Given the description of an element on the screen output the (x, y) to click on. 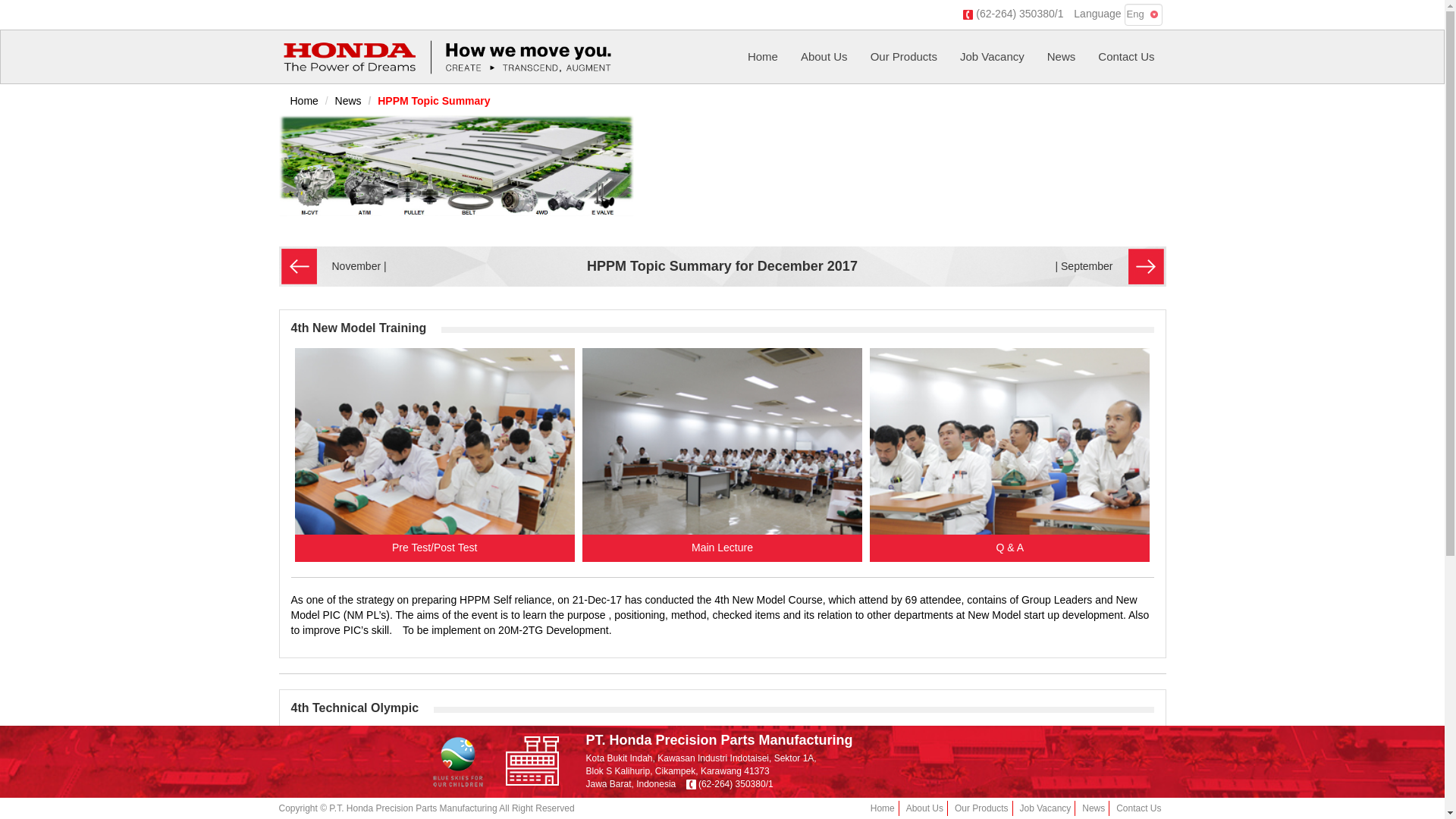
Home (762, 56)
Job Vacancy (992, 56)
Home (882, 808)
Our Products (904, 56)
Contact Us (1138, 808)
News (347, 101)
Contact Us (1126, 56)
About Us (924, 808)
Home (303, 101)
News (1061, 56)
